Given the description of an element on the screen output the (x, y) to click on. 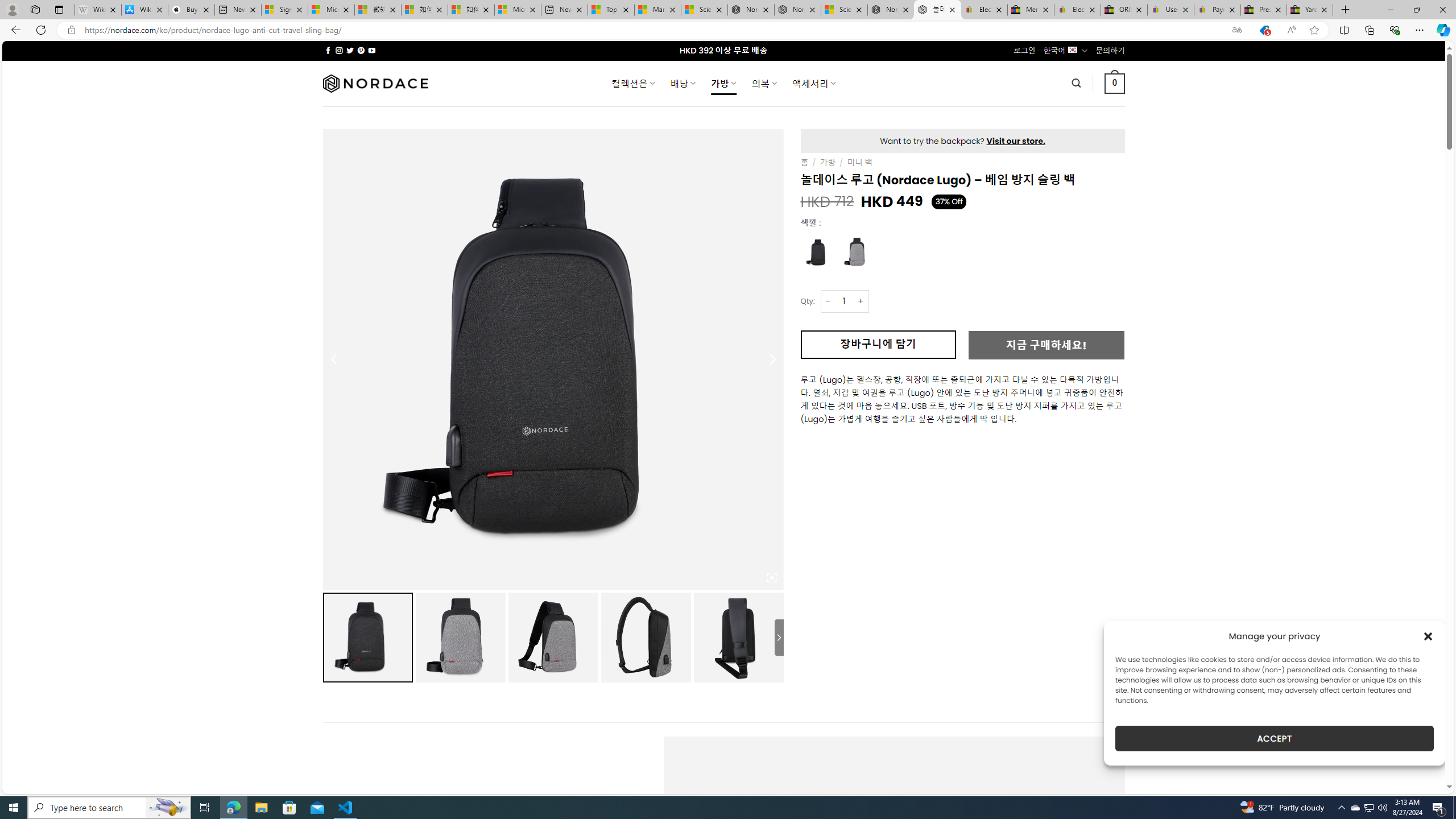
- (827, 300)
